Given the description of an element on the screen output the (x, y) to click on. 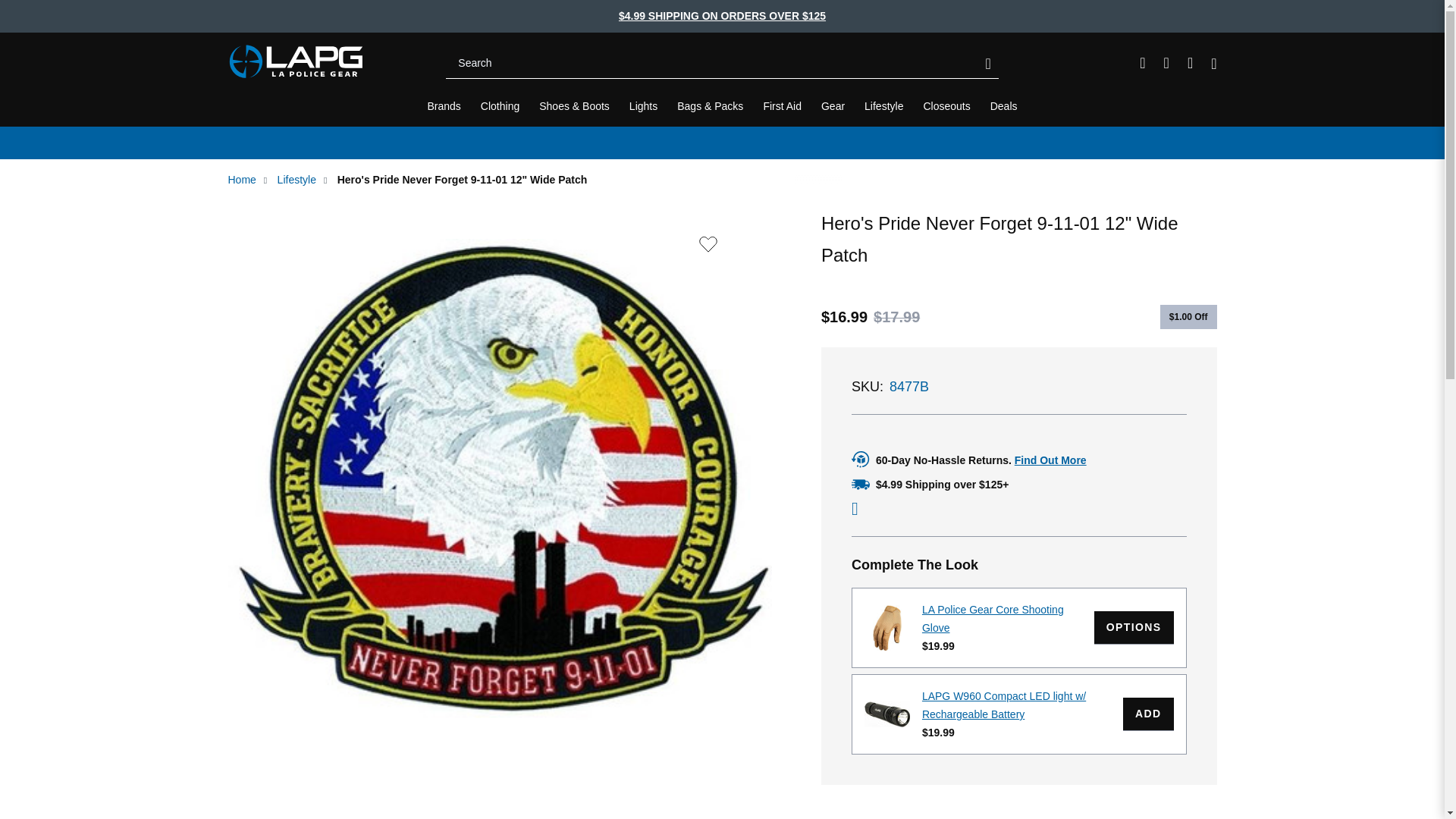
Add (1147, 714)
Brands (444, 106)
Options (1133, 627)
